Given the description of an element on the screen output the (x, y) to click on. 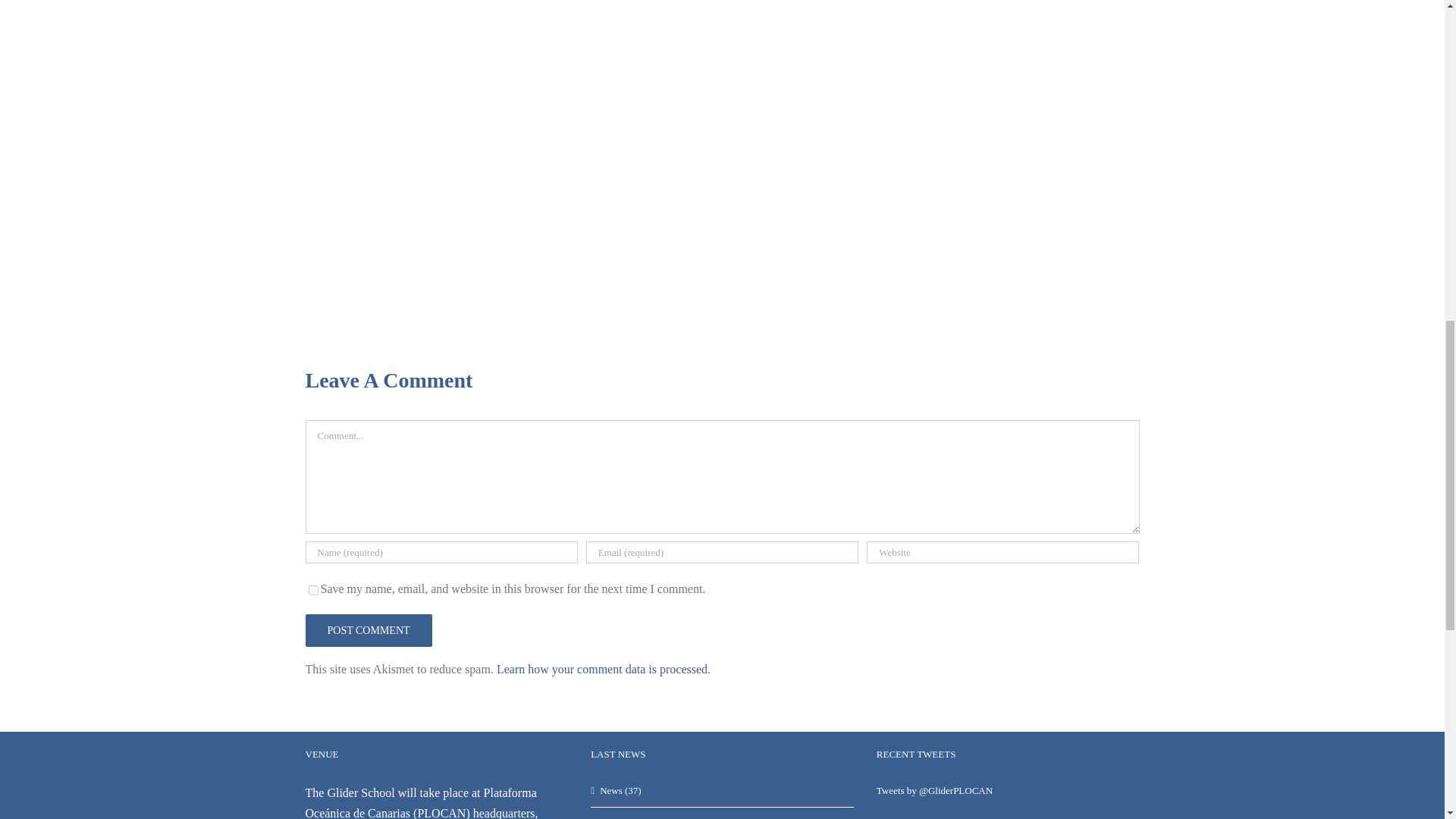
yes (312, 590)
Post Comment (367, 630)
